Given the description of an element on the screen output the (x, y) to click on. 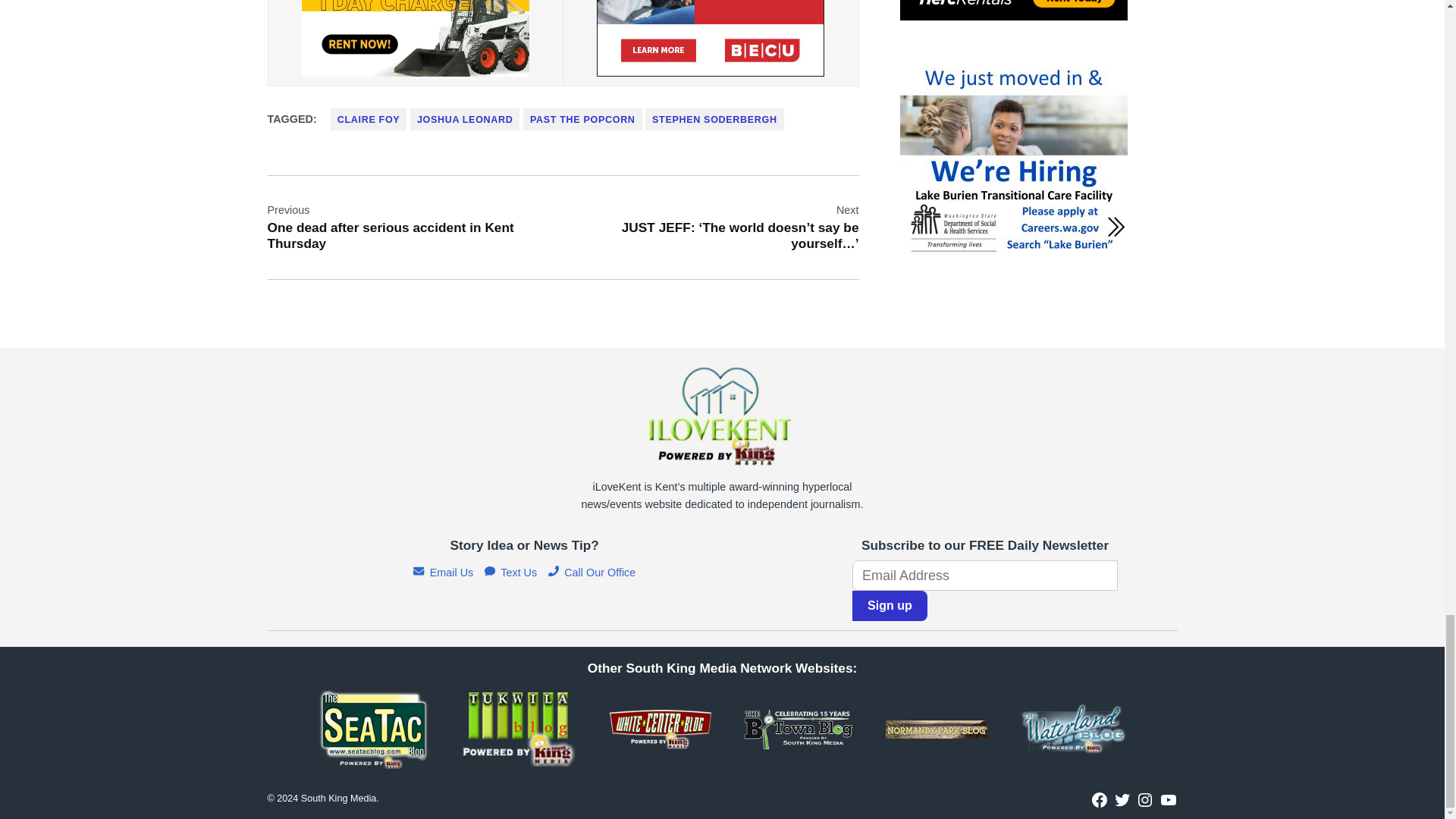
Sign up (889, 605)
